Given the description of an element on the screen output the (x, y) to click on. 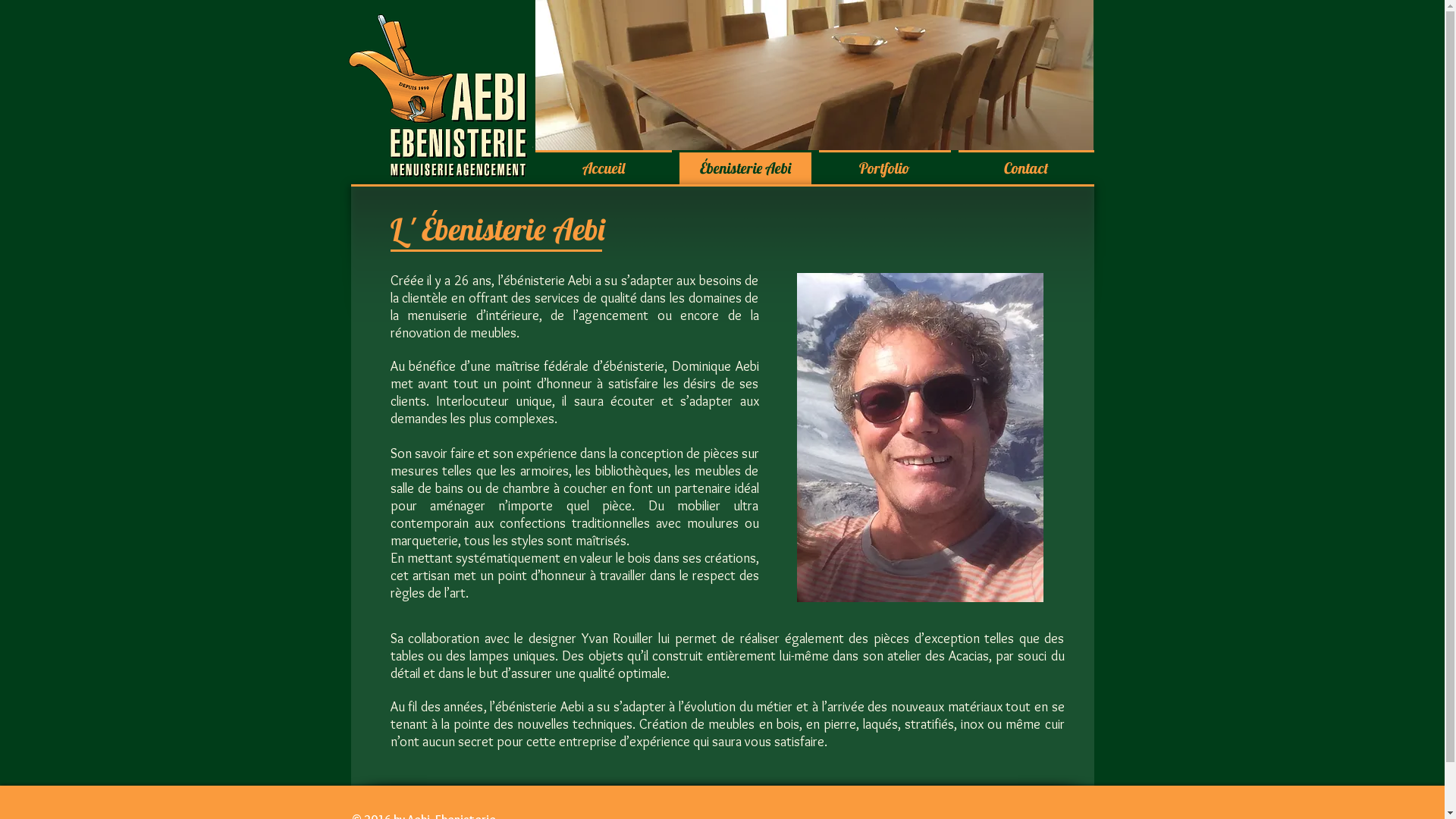
IMG_2689_edited.jpg Element type: hover (919, 437)
aebi home page (copie).png Element type: hover (424, 96)
Portfolio Element type: text (883, 168)
D28A8887.JPG Element type: hover (814, 75)
Accueil Element type: text (605, 168)
Contact Element type: text (1023, 168)
